Given the description of an element on the screen output the (x, y) to click on. 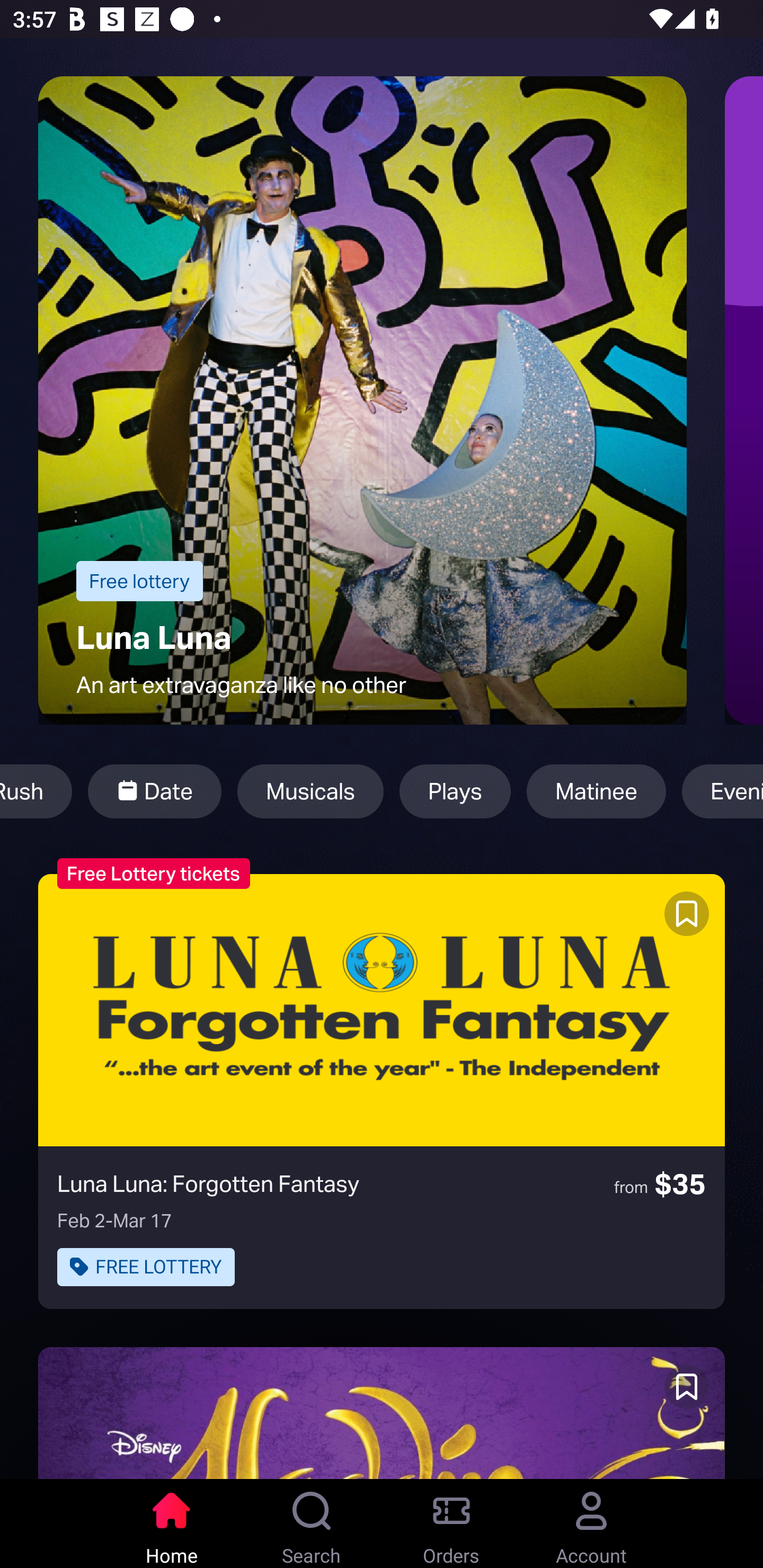
Date (154, 791)
Musicals (310, 791)
Plays (454, 791)
Matinee (596, 791)
Search (311, 1523)
Orders (451, 1523)
Account (591, 1523)
